Given the description of an element on the screen output the (x, y) to click on. 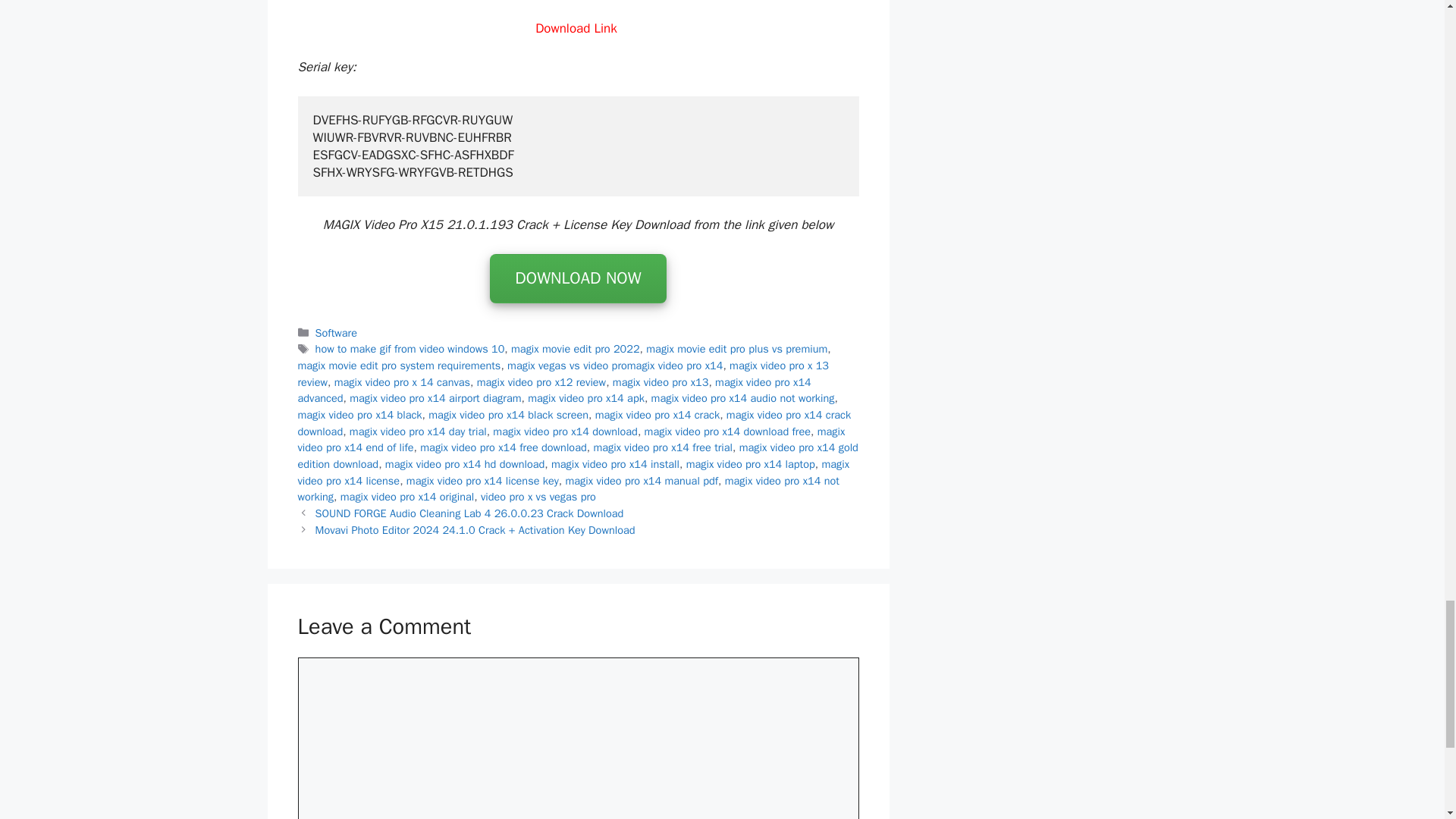
Download Link  (578, 28)
DOWNLOAD NOW (577, 278)
Software (335, 332)
how to make gif from video windows 10 (410, 348)
magix movie edit pro system requirements (398, 365)
magix vegas vs video promagix video pro x14 (614, 365)
magix movie edit pro 2022 (575, 348)
magix video pro x 14 canvas (402, 382)
magix movie edit pro plus vs premium (736, 348)
magix video pro x 13 review (562, 373)
DOWNLOAD NOW (577, 279)
